Given the description of an element on the screen output the (x, y) to click on. 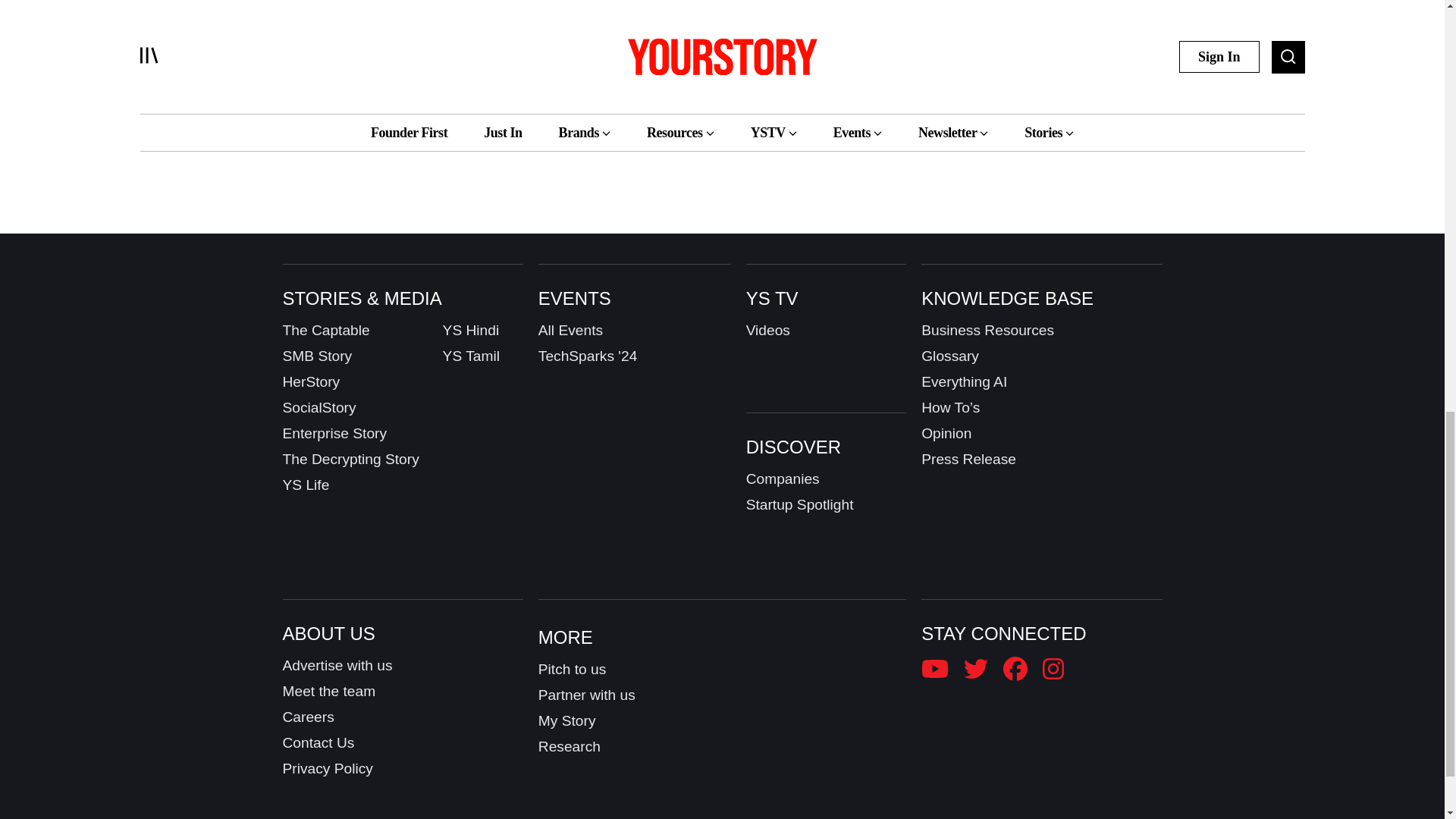
YS Life (305, 484)
Glossary (949, 356)
SocialStory (318, 407)
Companies (782, 479)
The Captable (325, 330)
YS Tamil (470, 356)
Business Resources (987, 330)
All Events (570, 330)
The Decrypting Story (350, 459)
HerStory (310, 382)
Videos (767, 330)
SMB Story (317, 356)
Startup Spotlight (799, 505)
YS Hindi (470, 330)
Everything AI (964, 382)
